Given the description of an element on the screen output the (x, y) to click on. 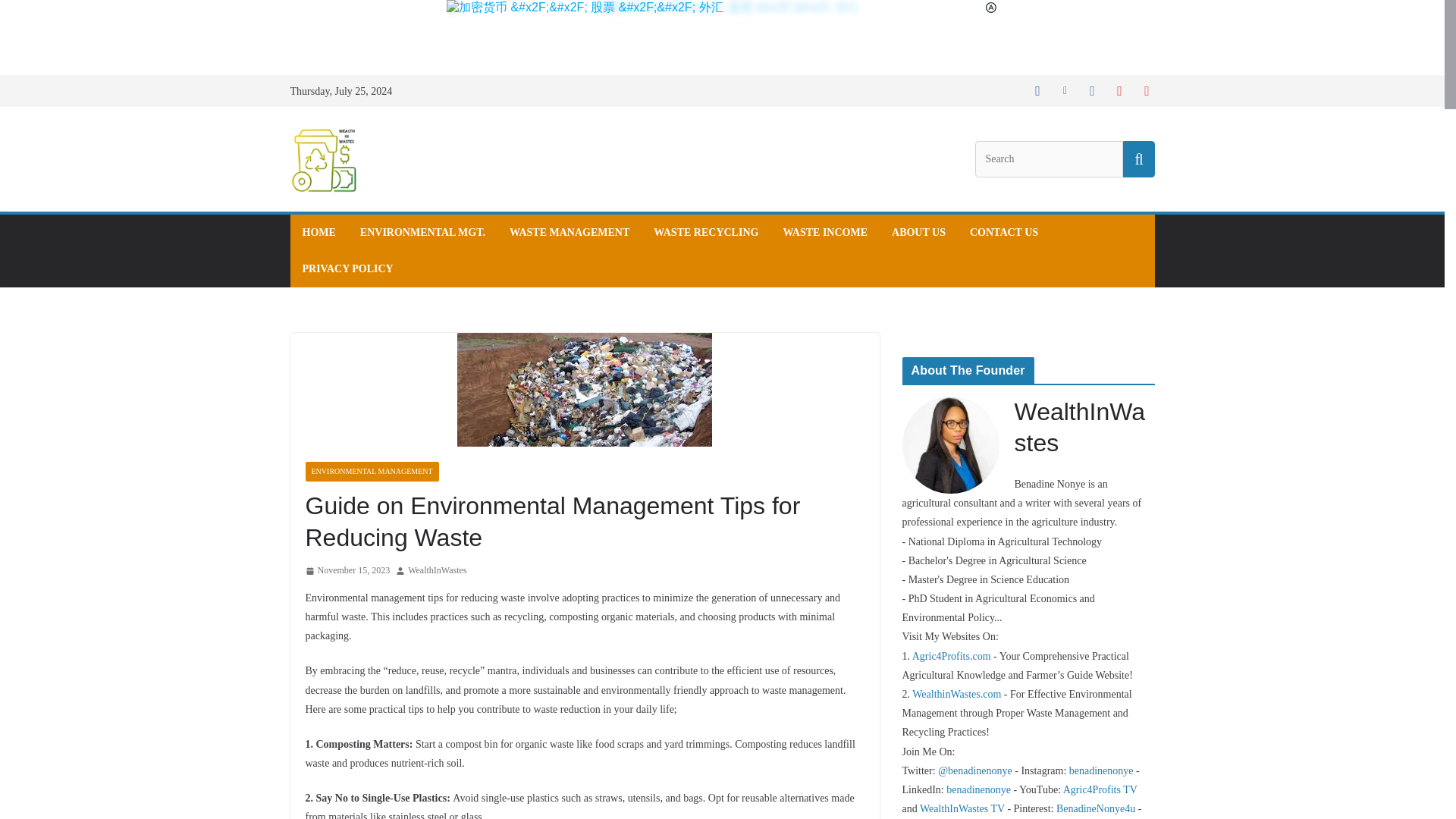
WASTE RECYCLING (705, 232)
Guide on Environmental Management Tips for Reducing Waste 1 (584, 389)
HOME (317, 232)
WASTE INCOME (825, 232)
1:21 pm (347, 570)
WealthInWastes (436, 570)
ENVIRONMENTAL MANAGEMENT (371, 471)
November 15, 2023 (347, 570)
CONTACT US (1003, 232)
ABOUT US (917, 232)
PRIVACY POLICY (347, 269)
WealthInWastes (436, 570)
WASTE MANAGEMENT (568, 232)
ENVIRONMENTAL MGT. (421, 232)
